Given the description of an element on the screen output the (x, y) to click on. 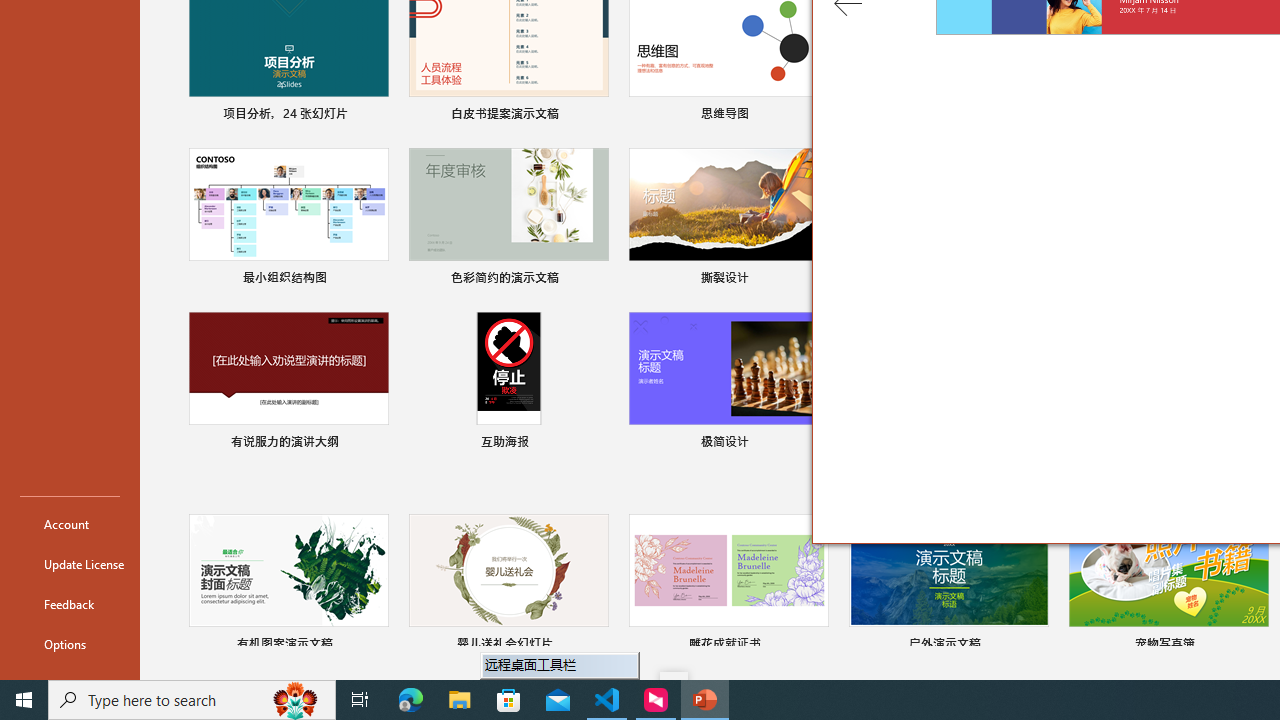
Start (24, 699)
Microsoft Edge (411, 699)
Visual Studio Code - 1 running window (607, 699)
Type here to search (191, 699)
Microsoft Store (509, 699)
Update License (69, 563)
